Given the description of an element on the screen output the (x, y) to click on. 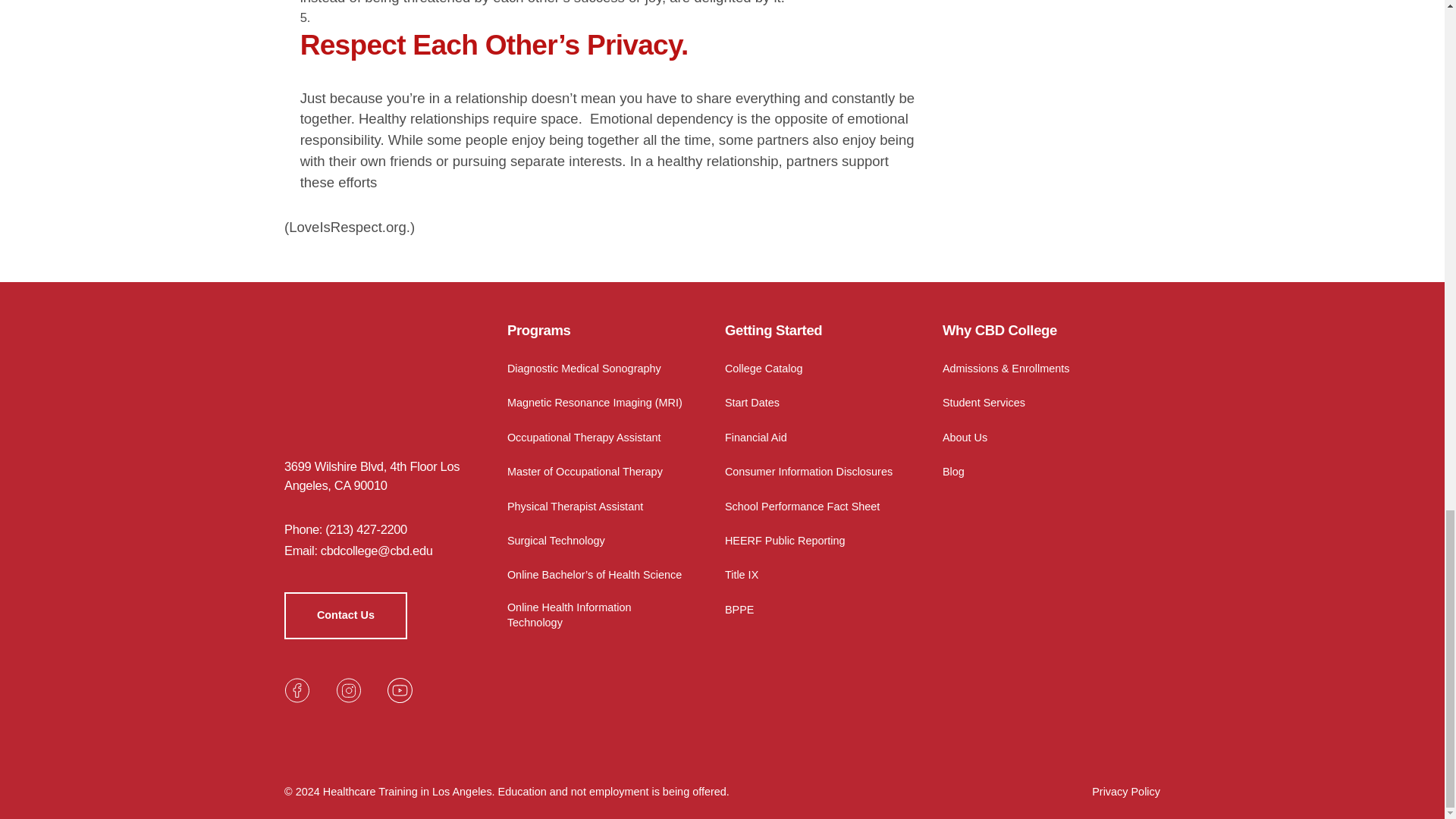
CBD College (387, 377)
